Given the description of an element on the screen output the (x, y) to click on. 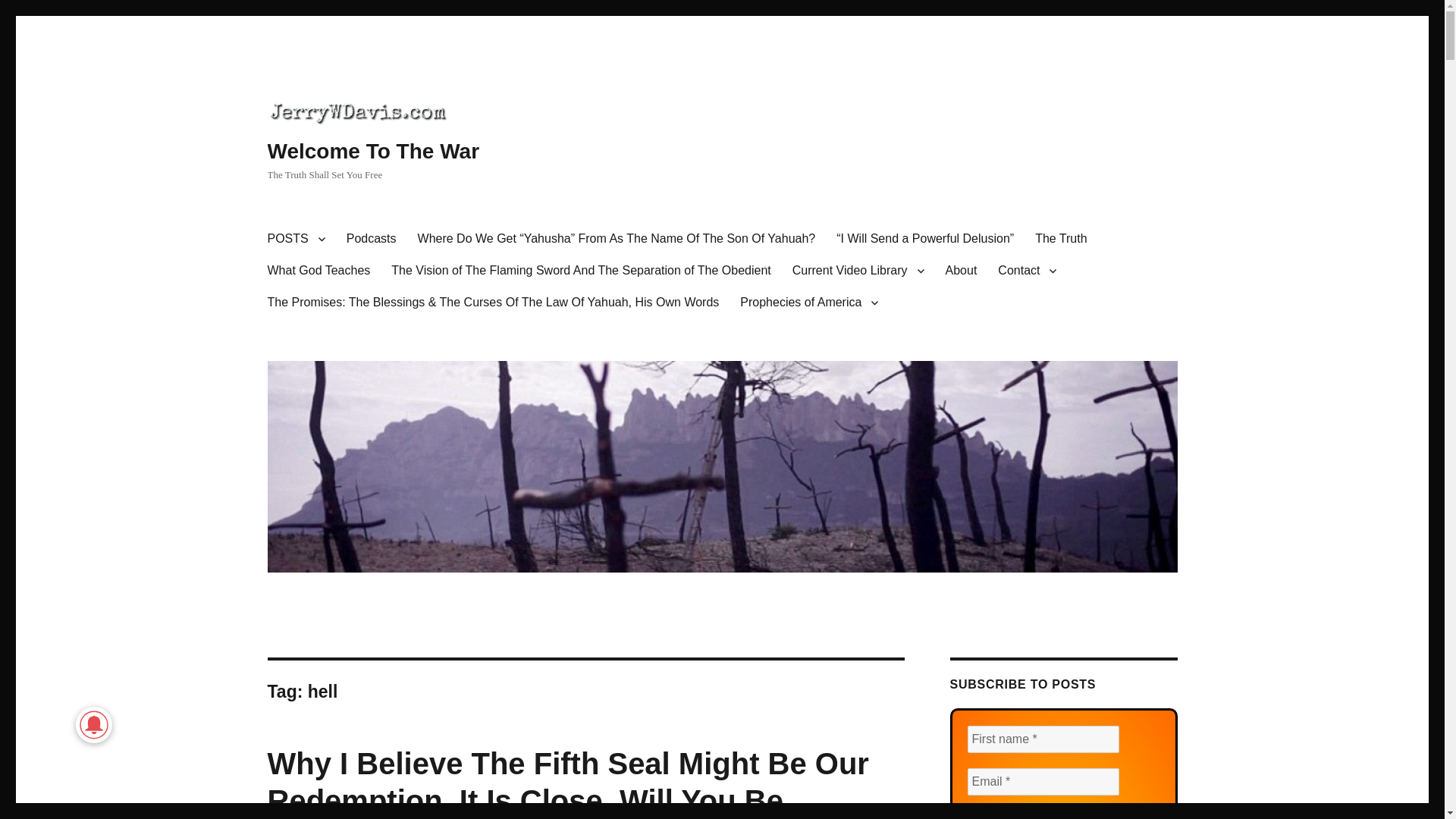
Contact (1027, 270)
Podcasts (371, 238)
What God Teaches (318, 270)
The Truth (1061, 238)
Current Video Library (857, 270)
POSTS (295, 238)
Prophecies of America (808, 302)
Welcome To The War (372, 150)
About (961, 270)
